Given the description of an element on the screen output the (x, y) to click on. 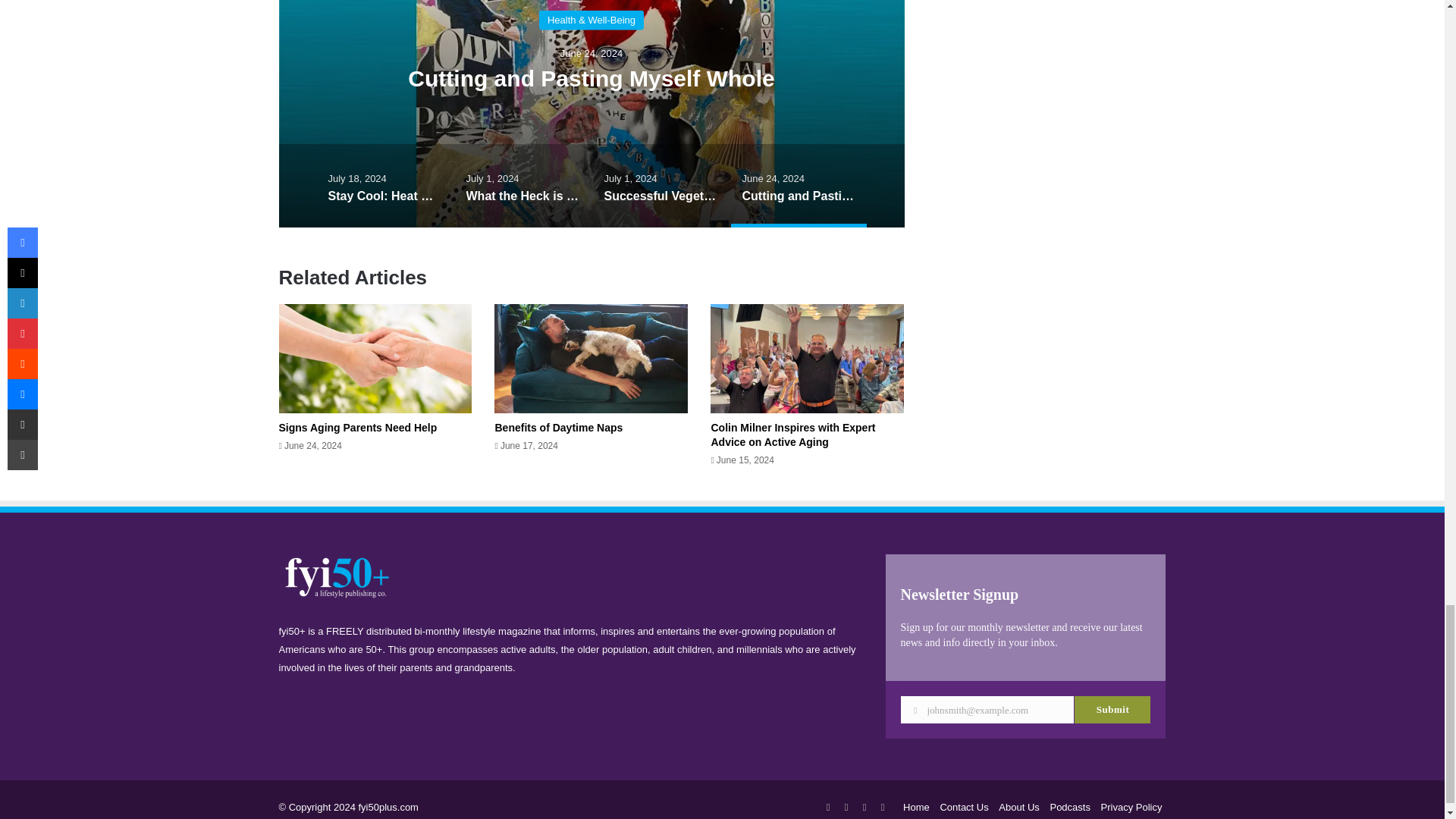
Colin Milner Inspires with Expert Advice on Active Aging 4 (807, 358)
Benefits of Daytime Naps 3 (591, 358)
Signs Aging Parents Need Help 2 (375, 358)
